Given the description of an element on the screen output the (x, y) to click on. 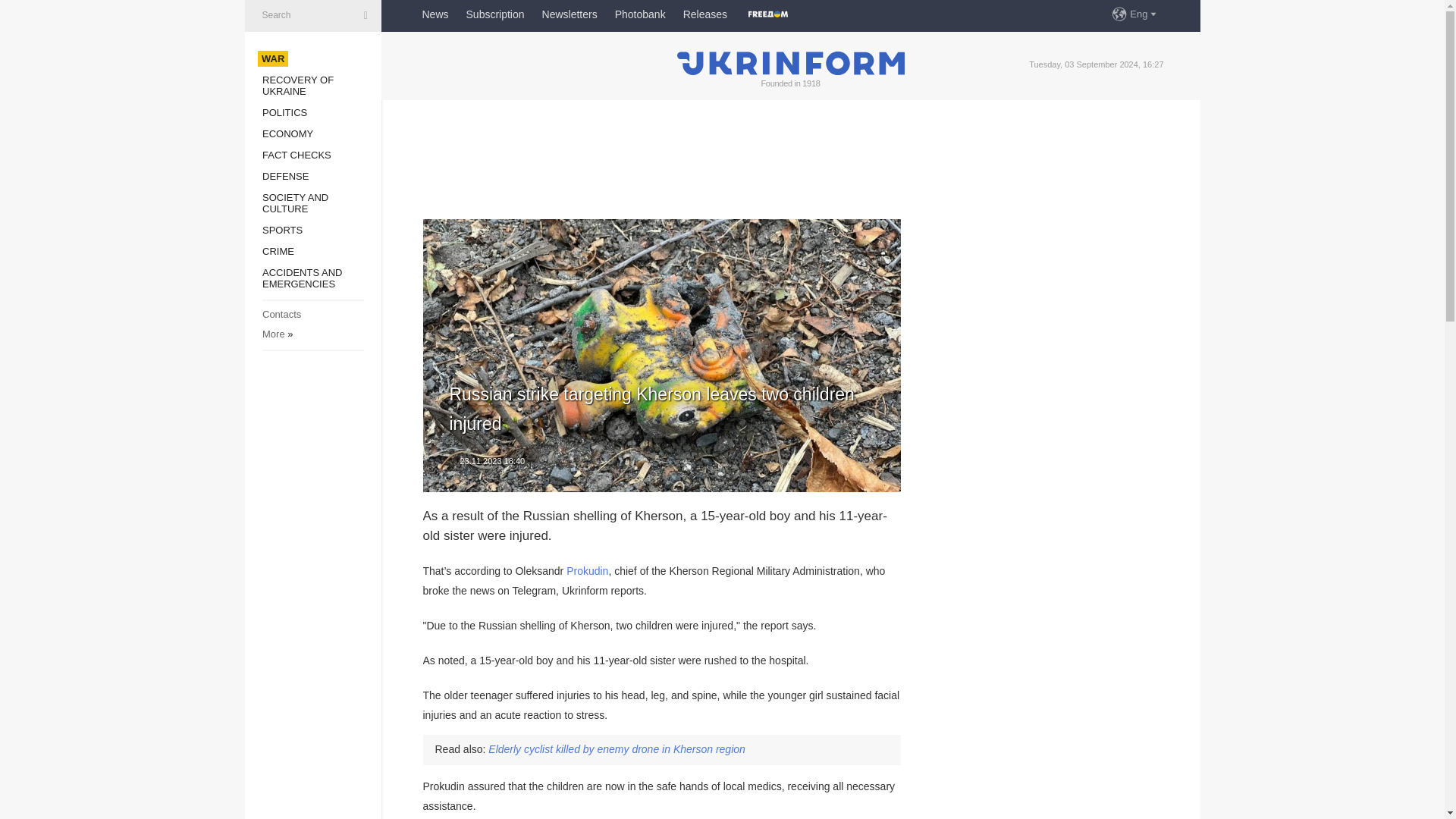
More (273, 333)
SOCIETY AND CULTURE (295, 202)
CRIME (278, 251)
News (435, 14)
Photobank (639, 14)
SPORTS (282, 229)
Contacts (281, 314)
Newsletters (568, 14)
Eng (1143, 14)
DEFENSE (285, 175)
